Given the description of an element on the screen output the (x, y) to click on. 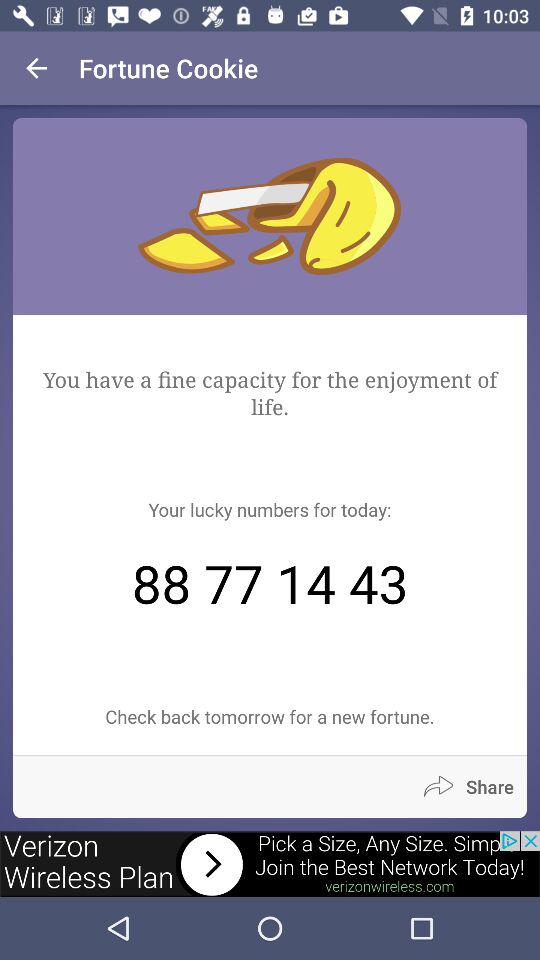
open advertisement (270, 864)
